Given the description of an element on the screen output the (x, y) to click on. 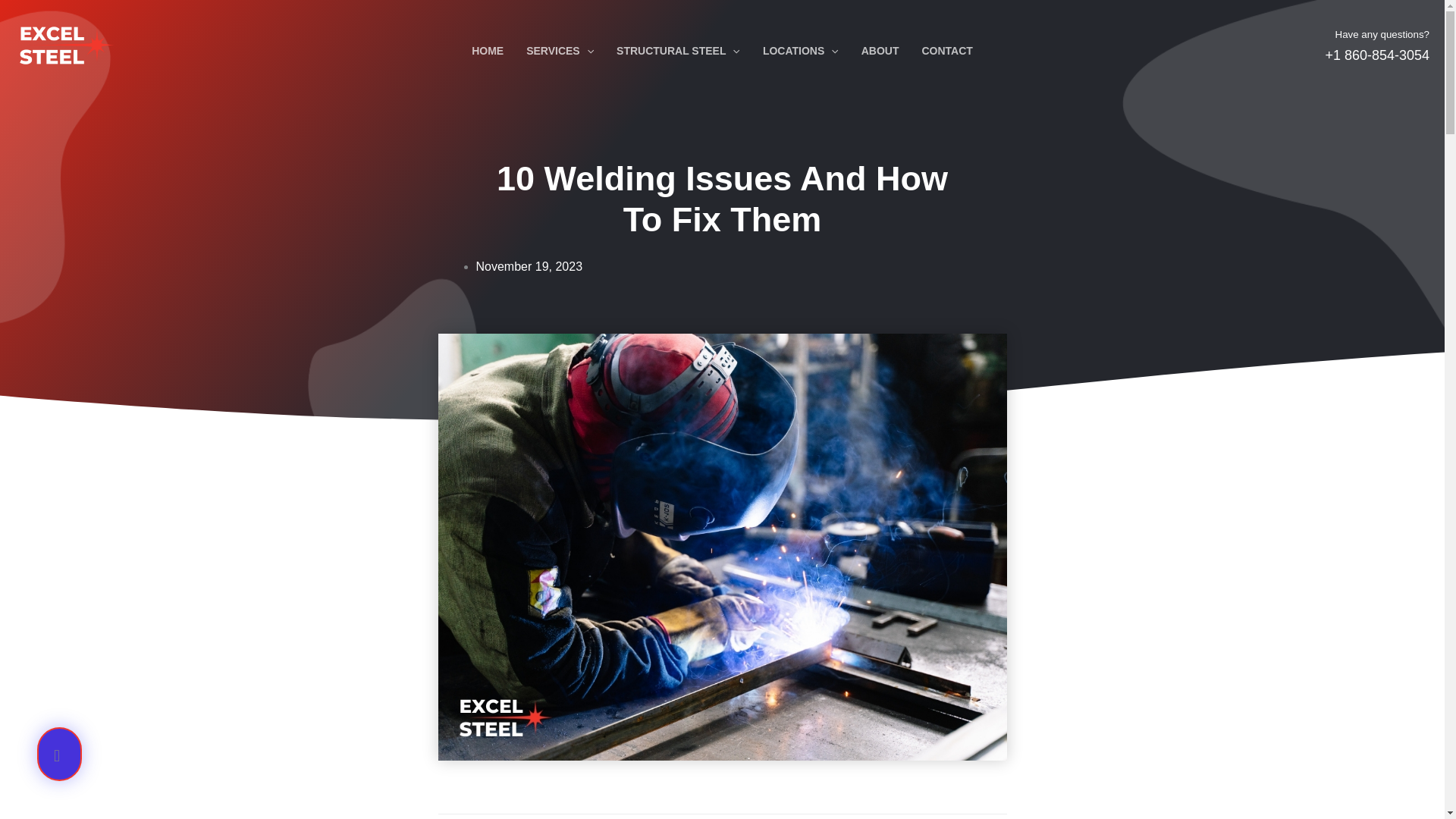
LOCATIONS (800, 45)
STRUCTURAL STEEL (678, 45)
November 19, 2023 (529, 266)
SERVICES (560, 45)
